Given the description of an element on the screen output the (x, y) to click on. 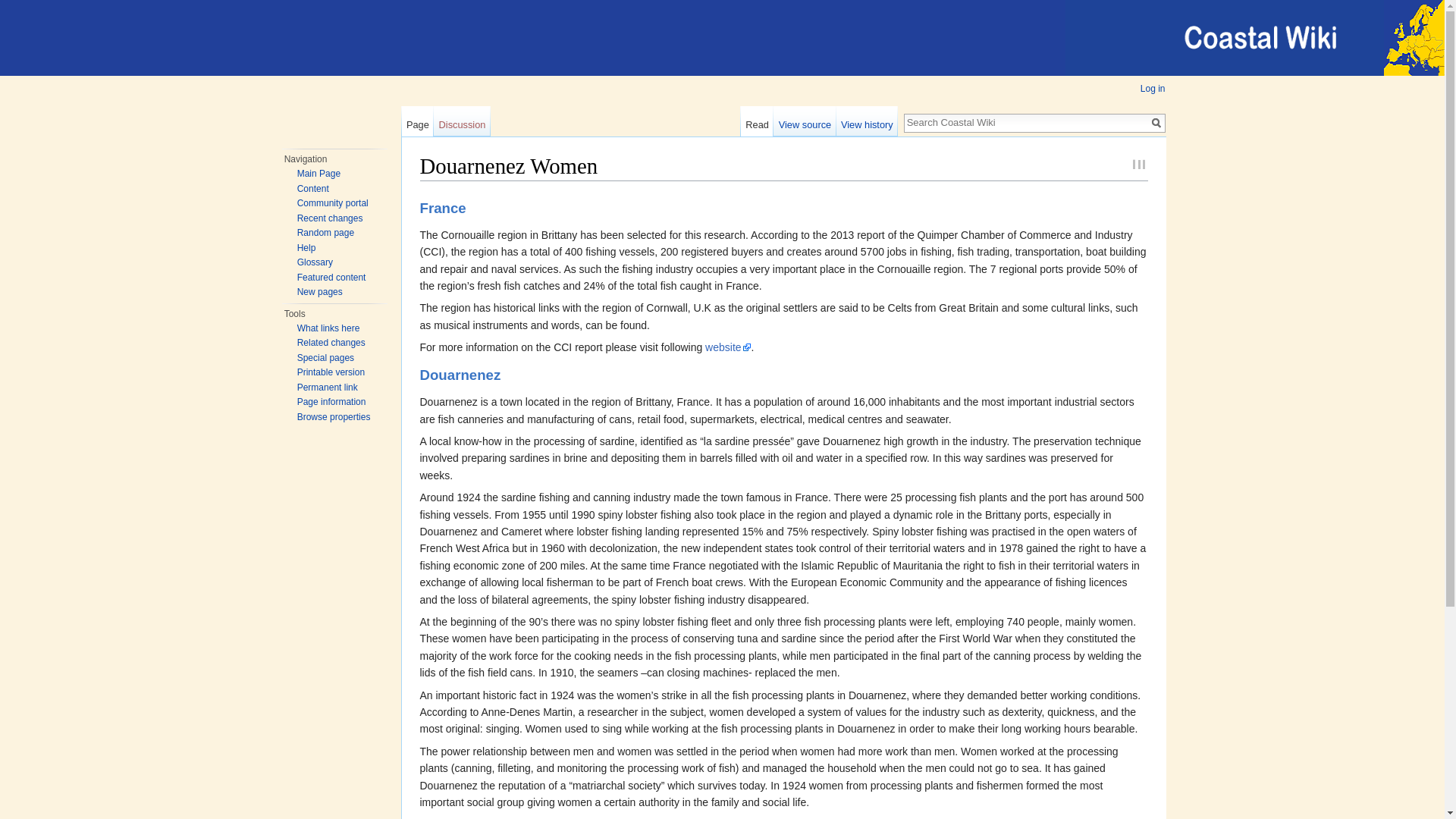
Featured content (331, 276)
website (727, 346)
Glossary (315, 262)
Search the pages for this text (1156, 122)
Read (757, 121)
Permanent link (327, 387)
Related changes (331, 342)
Search (1156, 122)
Browse properties (334, 416)
Permanent link to this revision of the page (327, 387)
Printable version (331, 371)
Search (1156, 122)
Special pages (325, 357)
Community portal (332, 203)
Random page (325, 232)
